Given the description of an element on the screen output the (x, y) to click on. 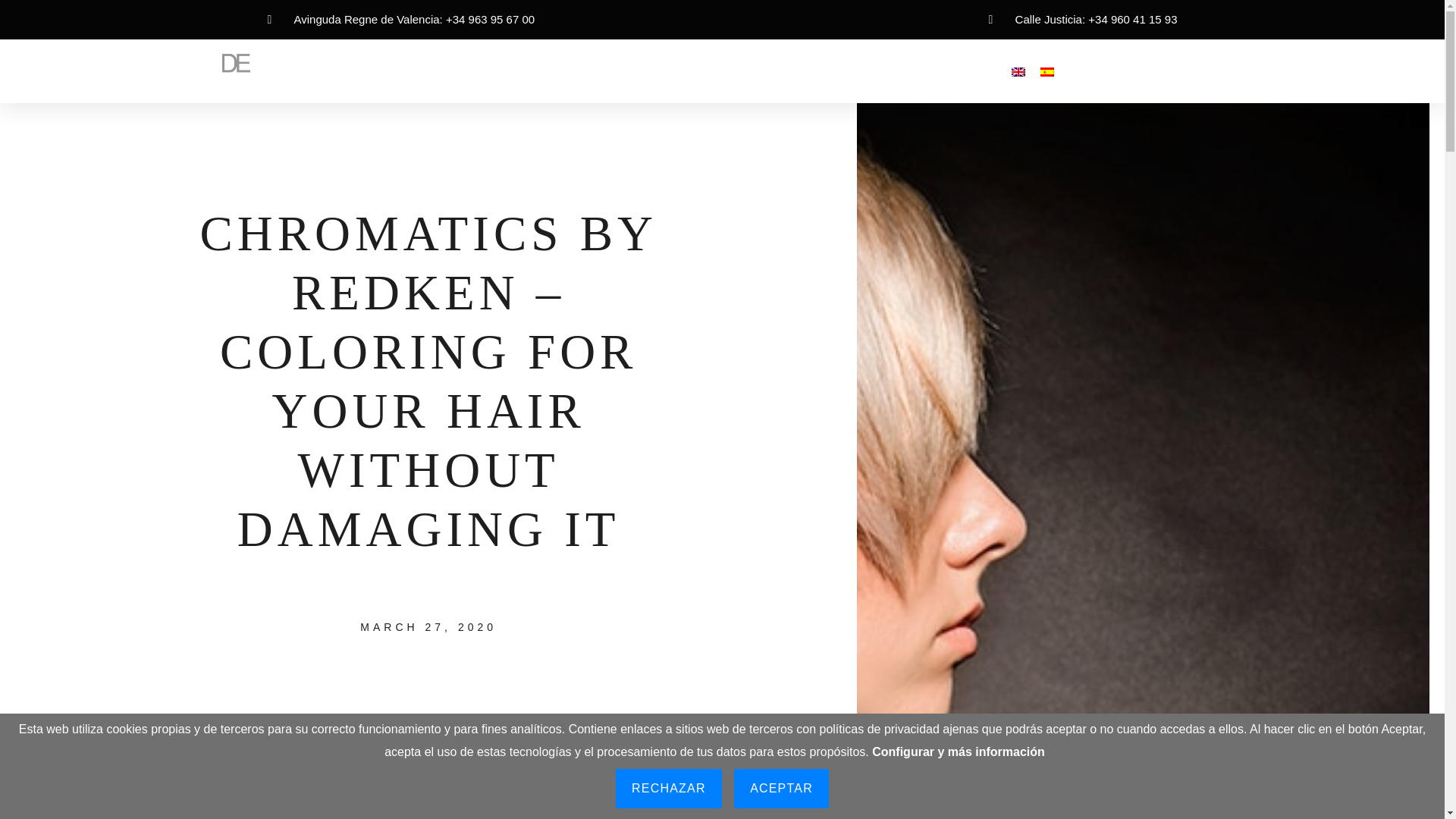
Collections (785, 71)
Chromatics de Recken (326, 800)
Team (667, 71)
0 (1242, 70)
Blog (719, 71)
For him (555, 71)
Shop (614, 71)
Book an appointment (1149, 70)
Home (415, 71)
View your shopping cart (1242, 70)
Contact (945, 71)
Promotions (870, 71)
